Given the description of an element on the screen output the (x, y) to click on. 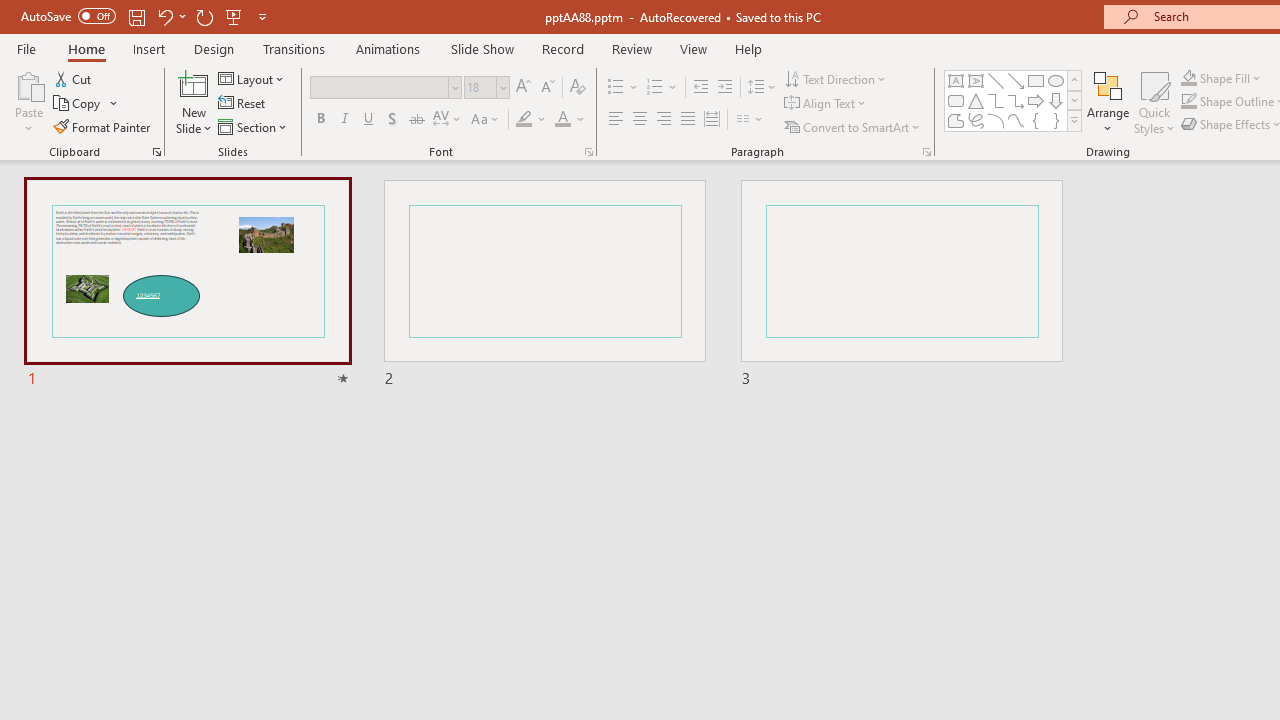
Connector: Elbow (995, 100)
Align Left (616, 119)
Increase Indent (725, 87)
Curve (1016, 120)
Line (995, 80)
Reset (243, 103)
